Given the description of an element on the screen output the (x, y) to click on. 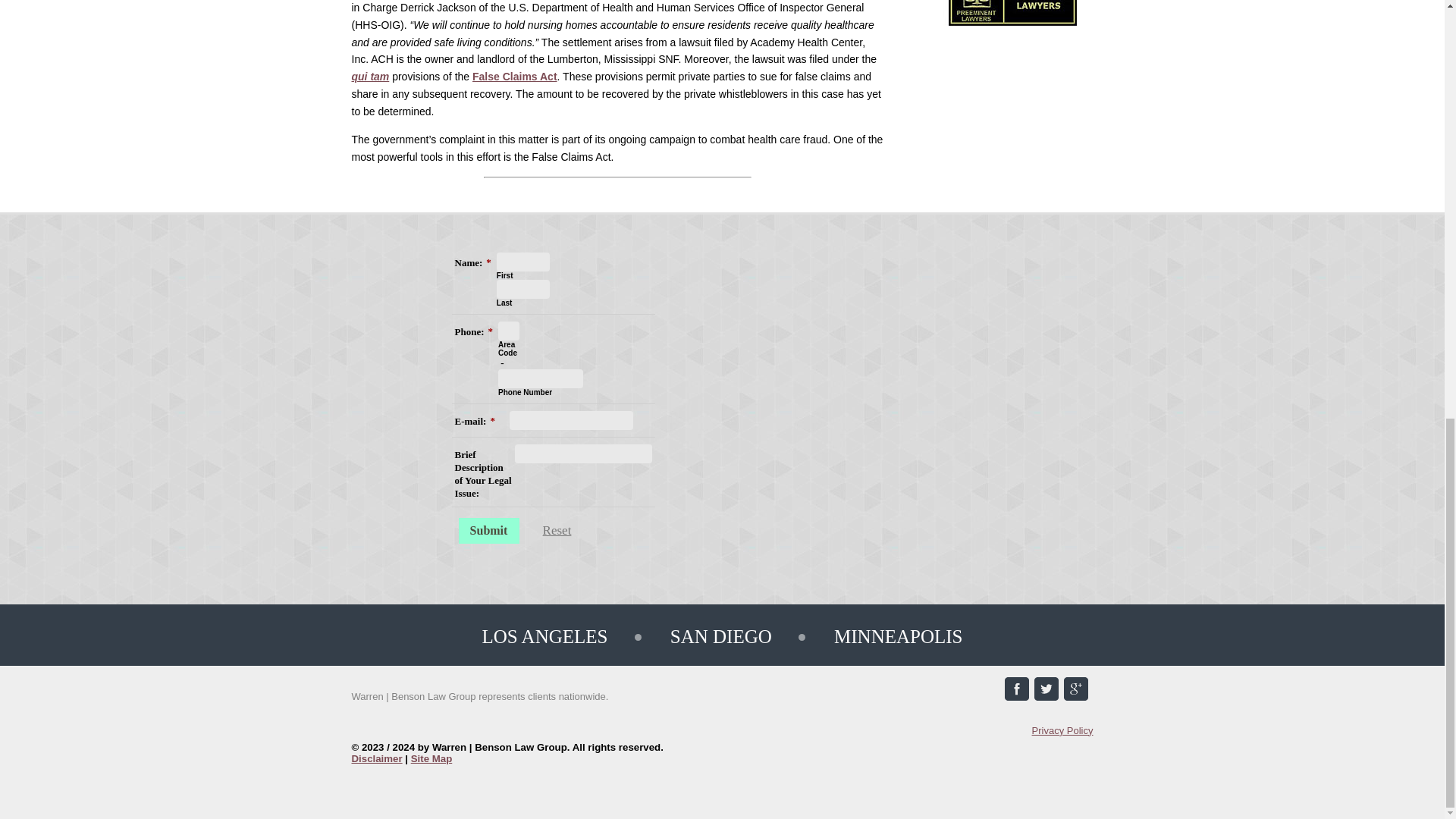
Privacy Policy (1062, 730)
Site Map (431, 758)
Reset (555, 530)
Disclaimer (377, 758)
False Claims Act (514, 76)
Submit (488, 530)
qui tam (371, 76)
